Given the description of an element on the screen output the (x, y) to click on. 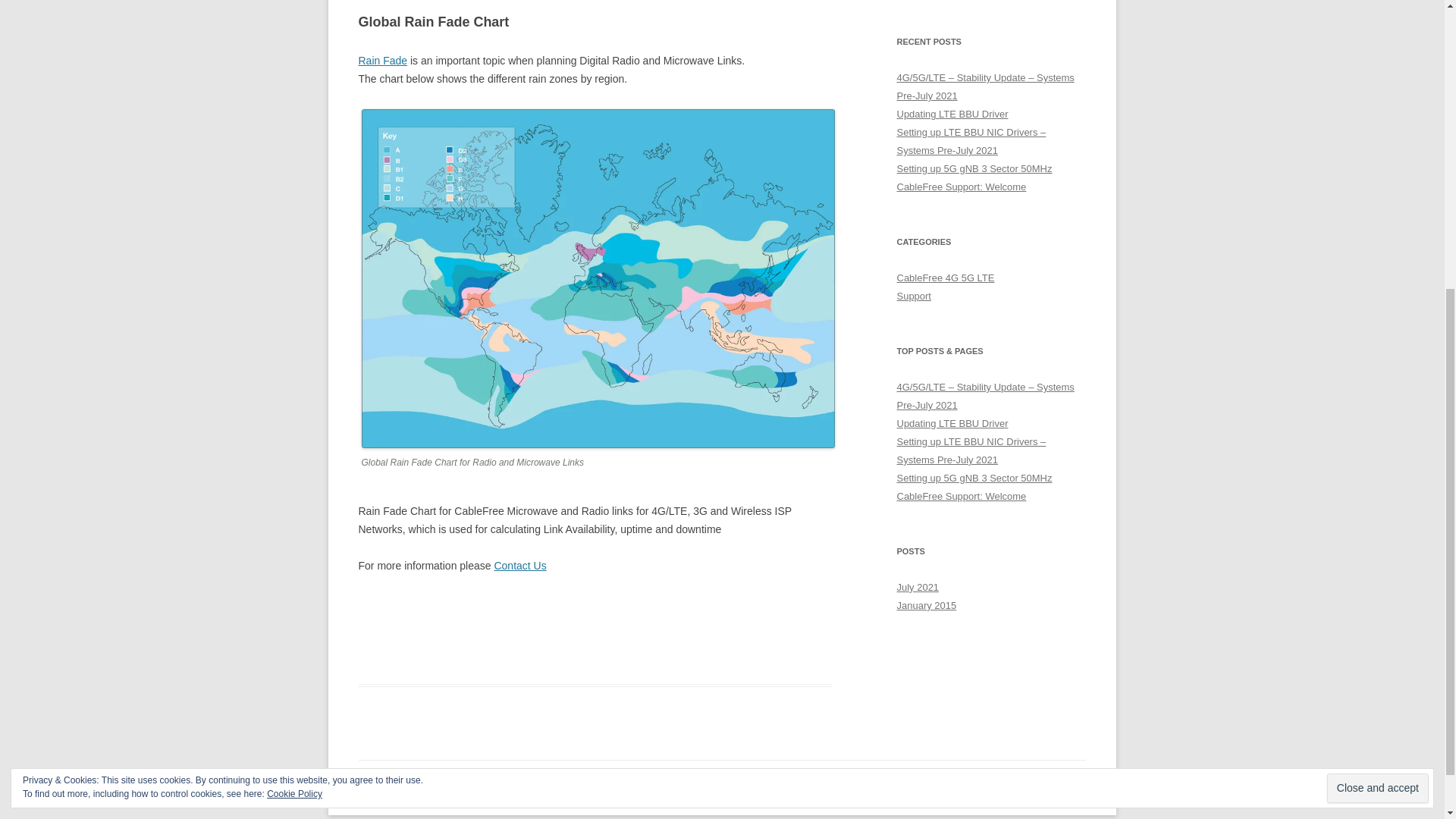
Updating LTE BBU Driver (951, 423)
Support (913, 296)
Wireless Excellence Limited (534, 787)
Setting up 5G gNB 3 Sector 50MHz (973, 478)
CableFree Support: Welcome (961, 186)
Close and accept (1377, 319)
Close and accept (1377, 319)
CableFree 4G 5G LTE (945, 277)
Setting up 5G gNB 3 Sector 50MHz (973, 168)
January 2015 (926, 604)
Rain Fade (382, 60)
CableFree Support: Welcome (961, 496)
July 2021 (917, 586)
Updating LTE BBU Driver (951, 113)
Contact Us (519, 565)
